Given the description of an element on the screen output the (x, y) to click on. 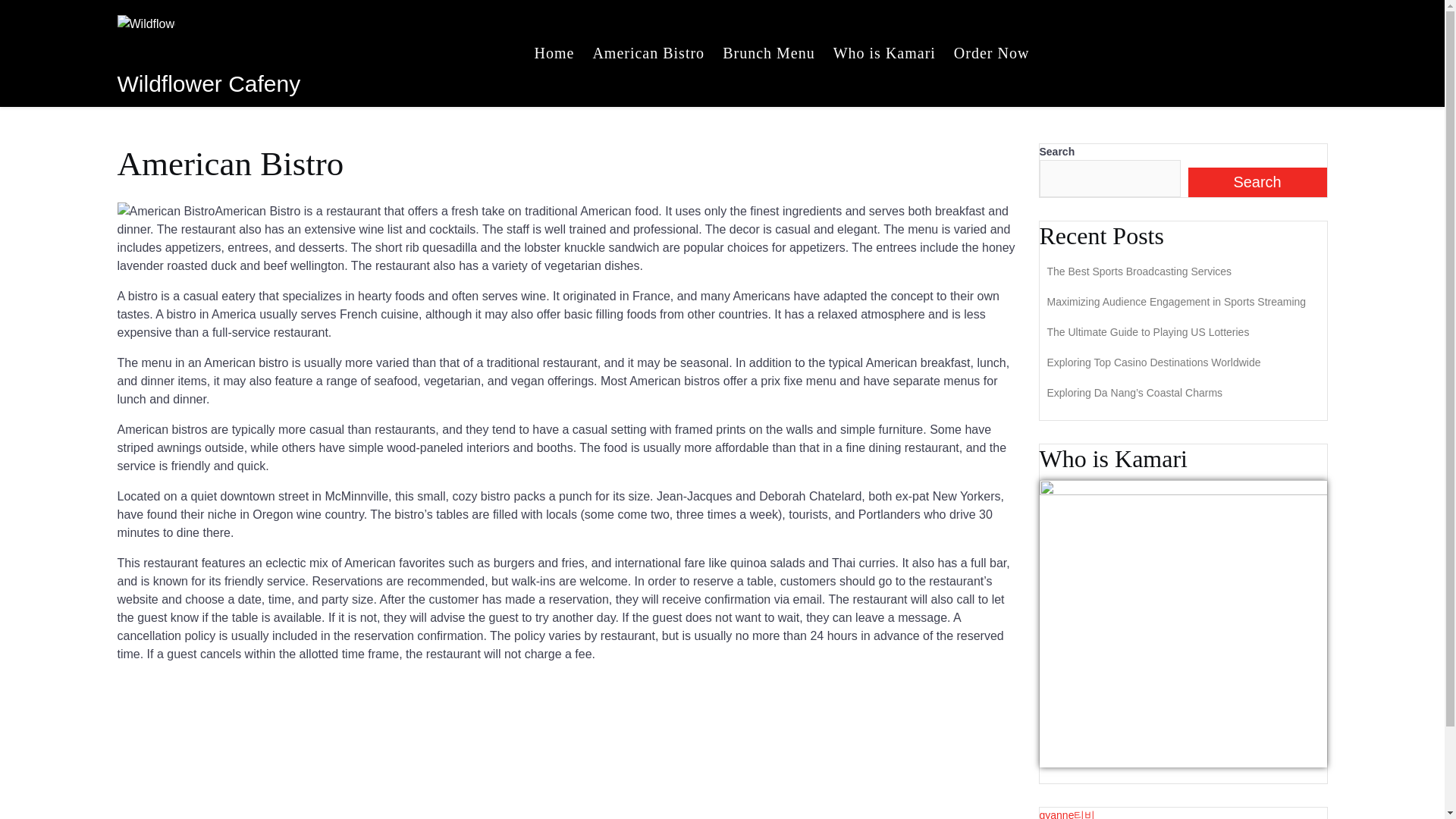
Wildflower Cafeny (207, 83)
American Bistro (648, 52)
Search (1257, 182)
Maximizing Audience Engagement in Sports Streaming (1176, 301)
The Ultimate Guide to Playing US Lotteries (1147, 331)
Brunch Menu (768, 52)
Order Now (991, 52)
The Best Sports Broadcasting Services (1138, 271)
Who is Kamari (884, 52)
Exploring Top Casino Destinations Worldwide (1153, 362)
